Given the description of an element on the screen output the (x, y) to click on. 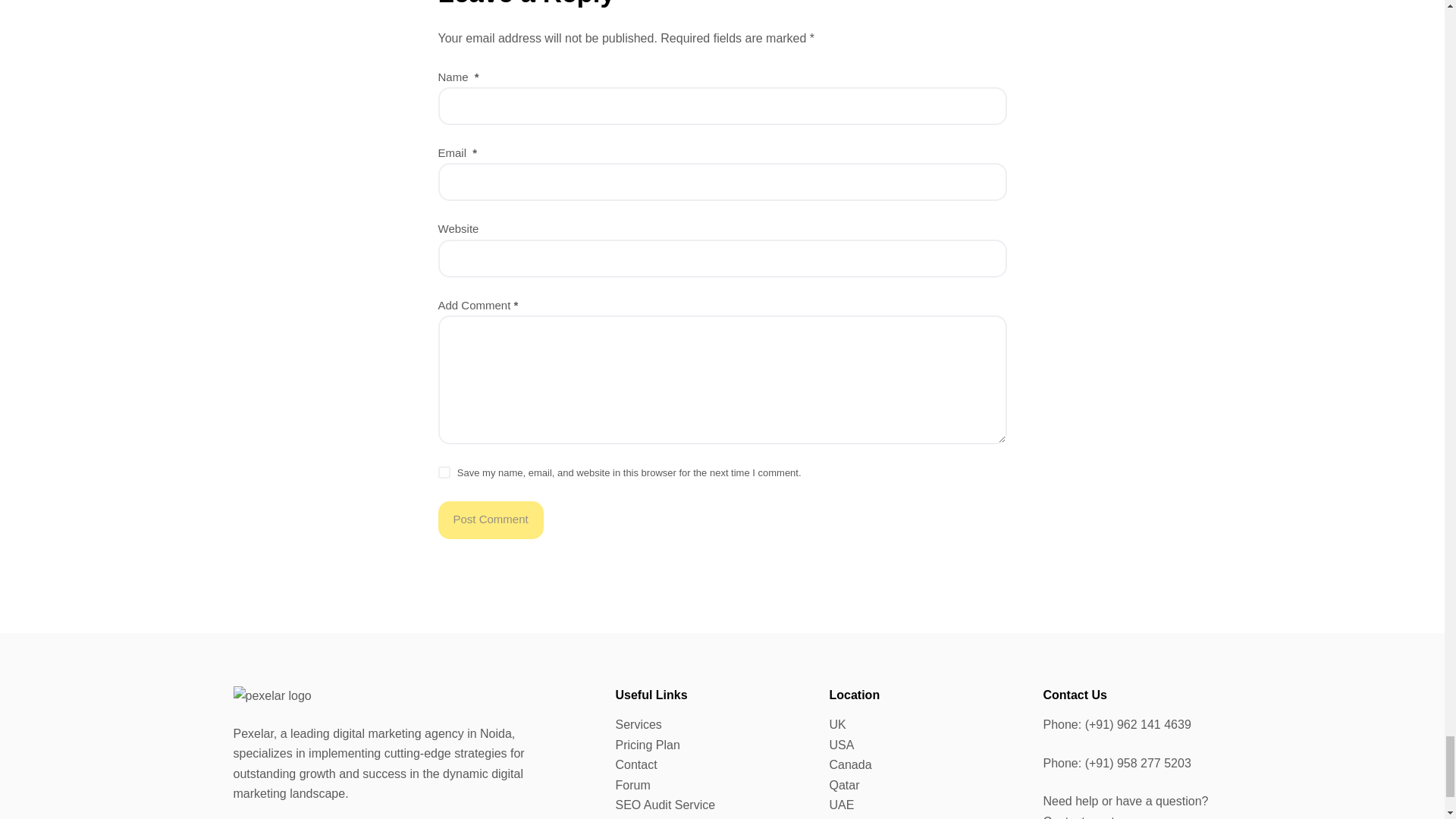
yes (443, 472)
